Given the description of an element on the screen output the (x, y) to click on. 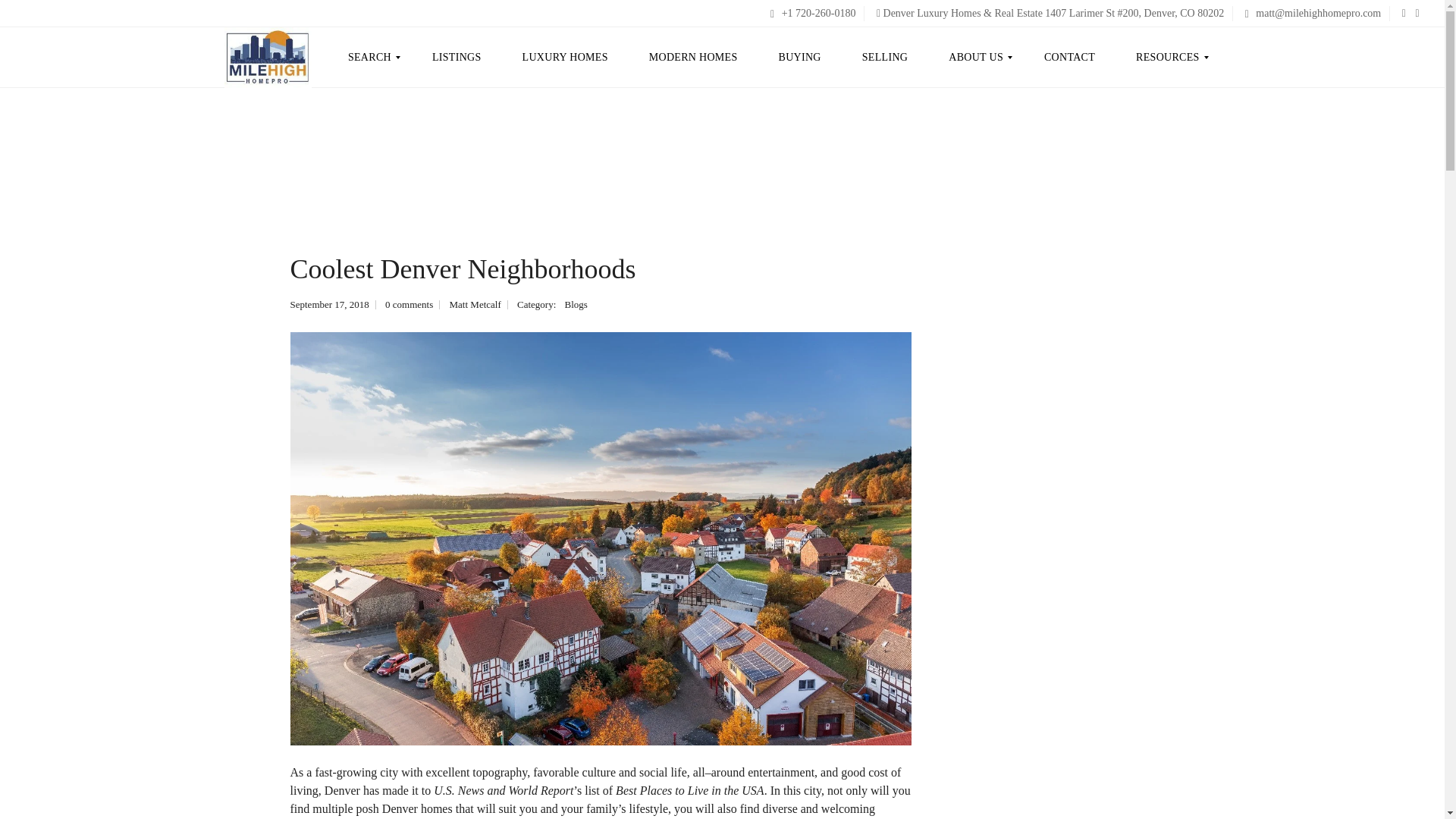
Denver Homes and Properties (267, 57)
SEARCH (375, 57)
